Given the description of an element on the screen output the (x, y) to click on. 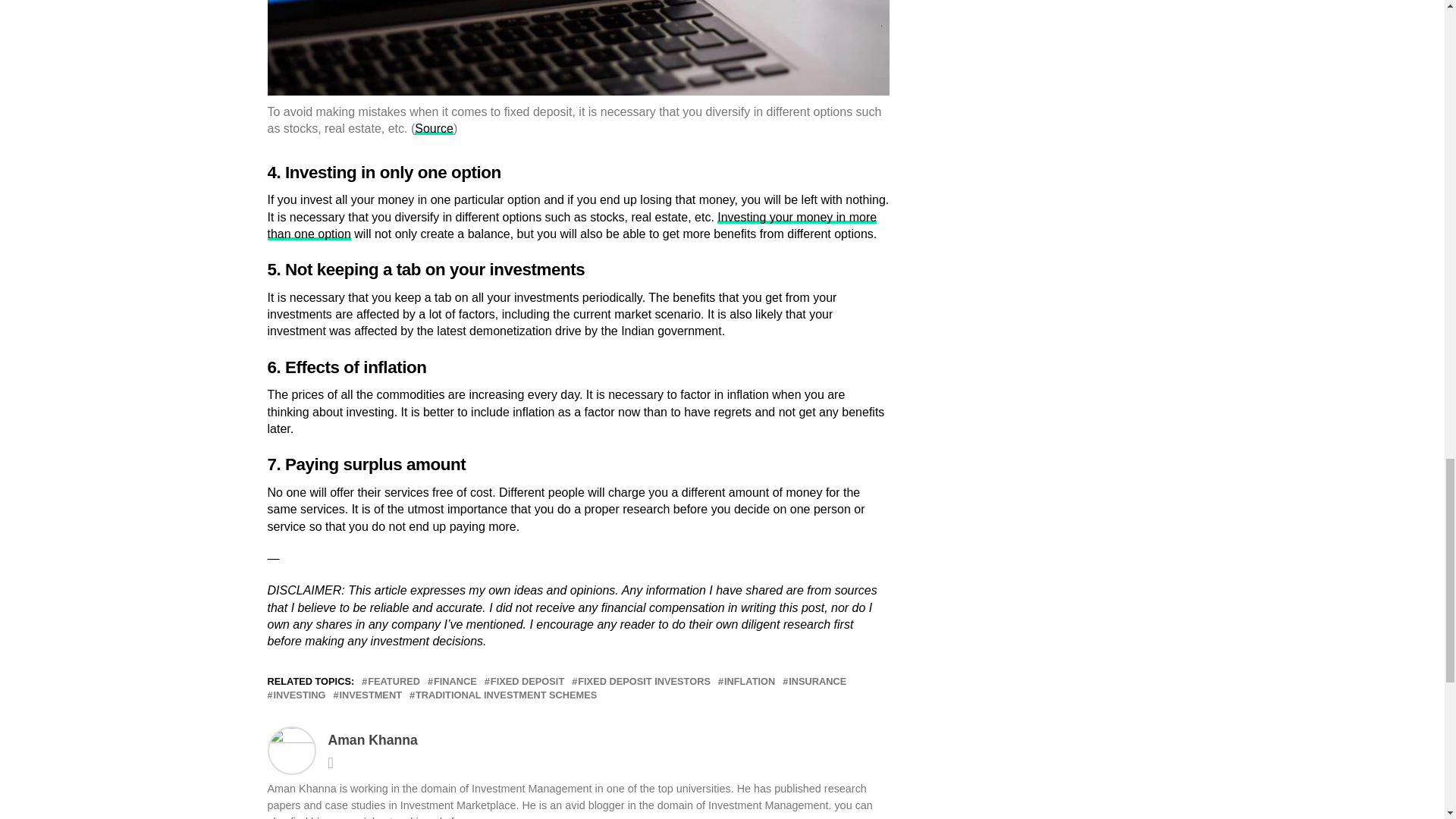
INFLATION (748, 682)
Posts by Aman Khanna (371, 739)
Investing your money in more than one option (571, 225)
Source (433, 128)
FIXED DEPOSIT INVESTORS (644, 682)
FINANCE (455, 682)
FEATURED (394, 682)
FIXED DEPOSIT (527, 682)
